Given the description of an element on the screen output the (x, y) to click on. 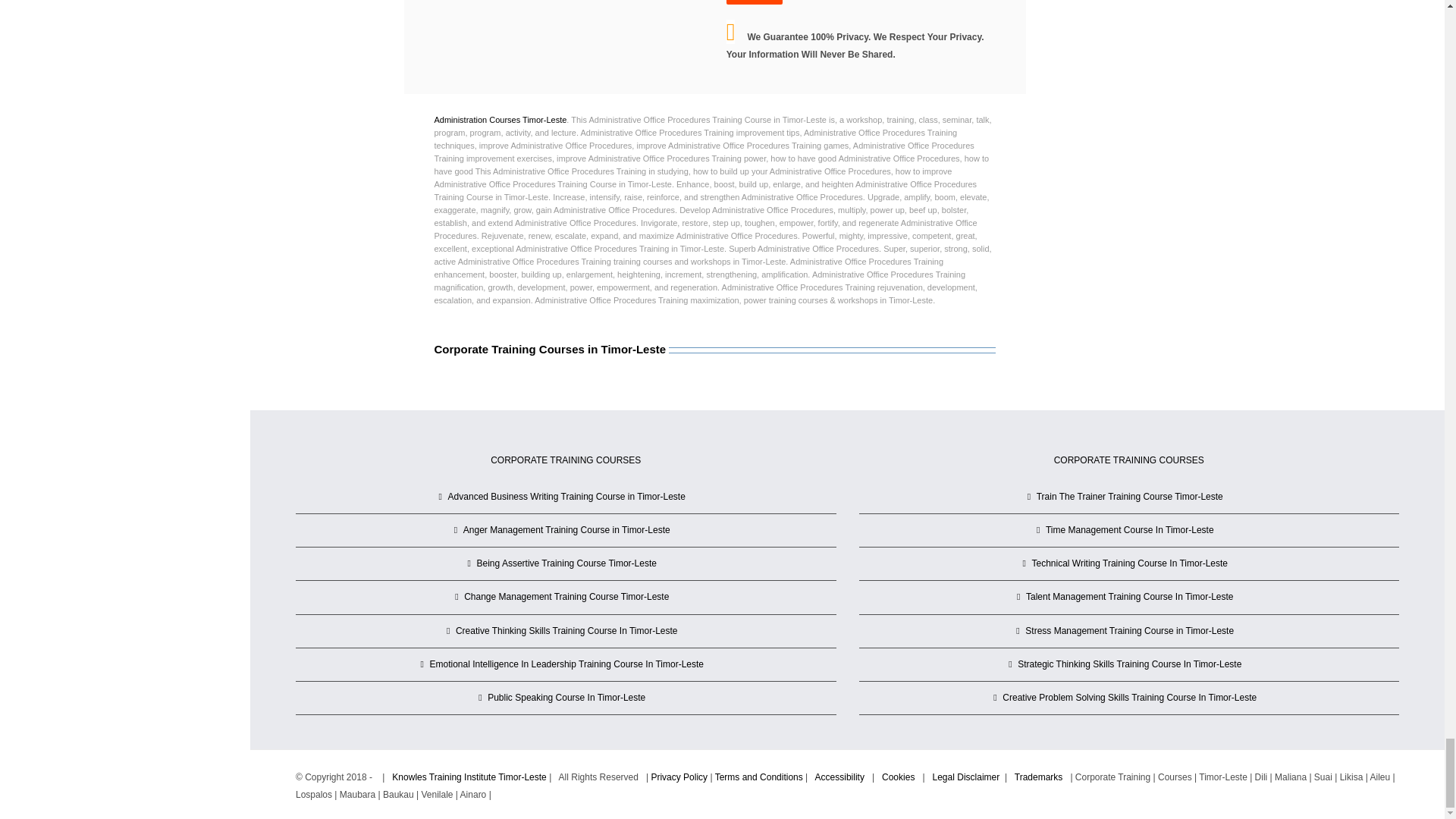
Being Assertive Training Course Timor-Leste (566, 563)
Corporate Training Courses in Timor-Leste (549, 349)
Stress Management Training Course in Timor-Leste (1129, 630)
Strategic Thinking Skills Training Course In Timor-Leste (1129, 664)
Corporate Training Courses in Timor-Leste (714, 368)
Technical Writing Training Course In Timor-Leste (1129, 563)
Public Speaking Course In Timor-Leste (566, 697)
Administration Courses Timor-Leste (499, 119)
Creative Thinking Skills Training Course In Timor-Leste (566, 630)
Time Management Course In Timor-Leste (1129, 529)
